Given the description of an element on the screen output the (x, y) to click on. 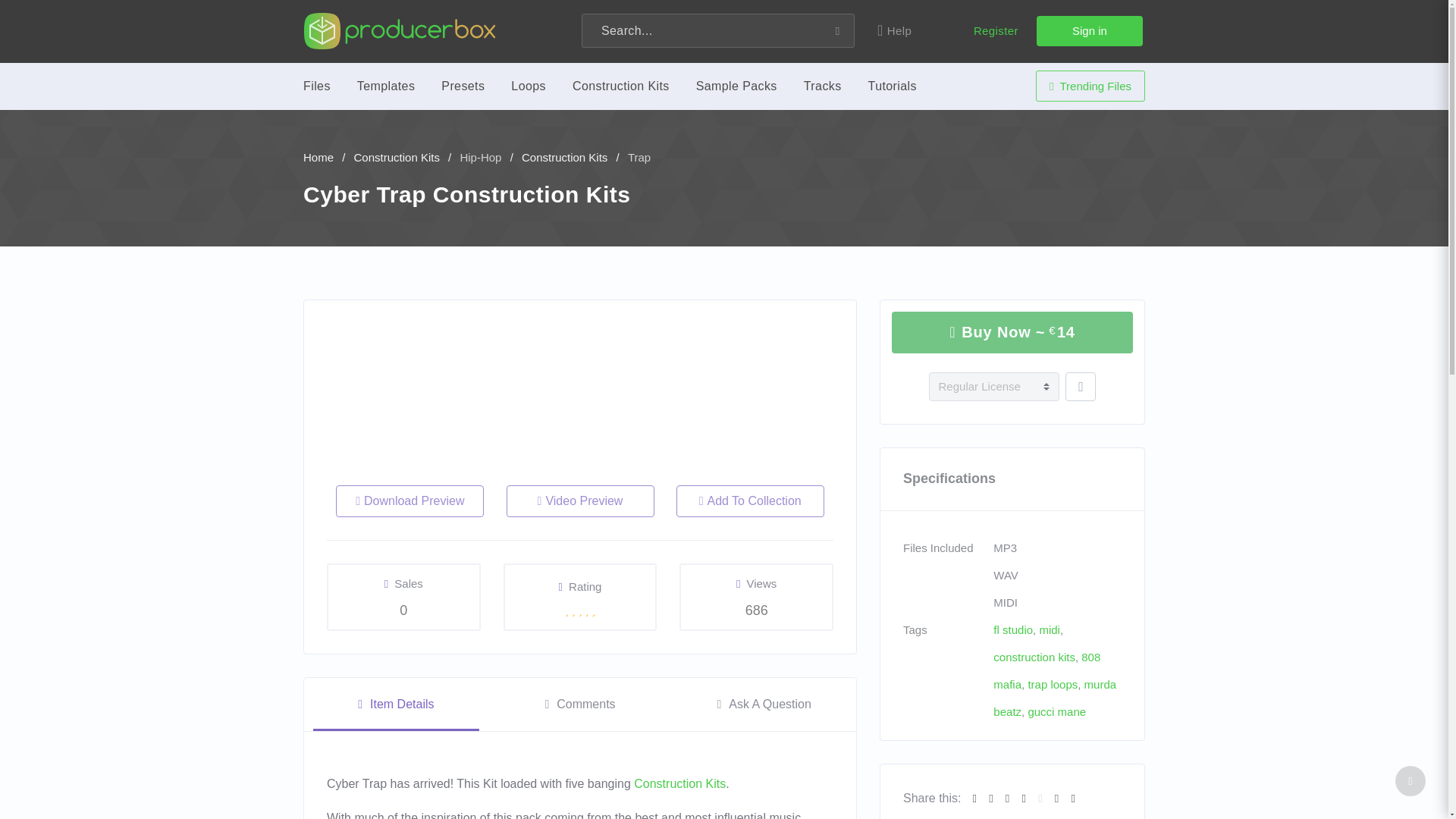
Templates (385, 84)
Files (316, 84)
Presets (462, 84)
Help (901, 31)
Sign in (1089, 30)
Find More Construction Kits (679, 783)
Register (995, 31)
This item is sold with Regular License only (993, 386)
